Given the description of an element on the screen output the (x, y) to click on. 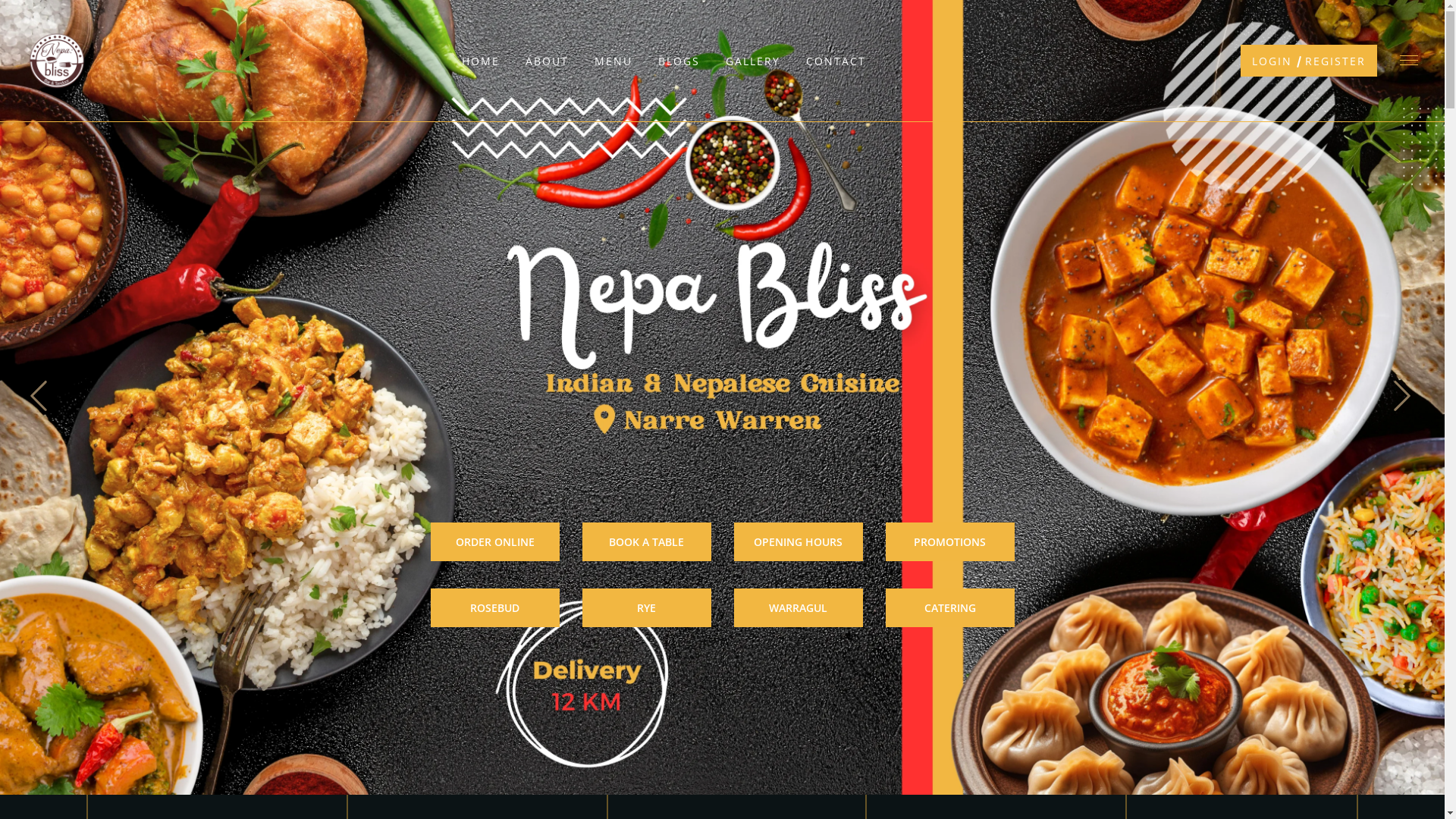
CONTACT Element type: text (836, 60)
BLOGS Element type: text (678, 60)
LOGIN Element type: text (1272, 61)
ABOUT Element type: text (546, 60)
WARRAGUL Element type: text (798, 607)
GALLERY Element type: text (752, 60)
BOOK A TABLE Element type: text (646, 541)
ORDER ONLINE Element type: text (494, 541)
PROMOTIONS Element type: text (949, 541)
REGISTER Element type: text (1335, 61)
HOME Element type: text (480, 60)
MENU Element type: text (613, 60)
ROSEBUD Element type: text (494, 607)
RYE Element type: text (646, 607)
OPENING HOURS Element type: text (798, 541)
CATERING Element type: text (949, 607)
